Given the description of an element on the screen output the (x, y) to click on. 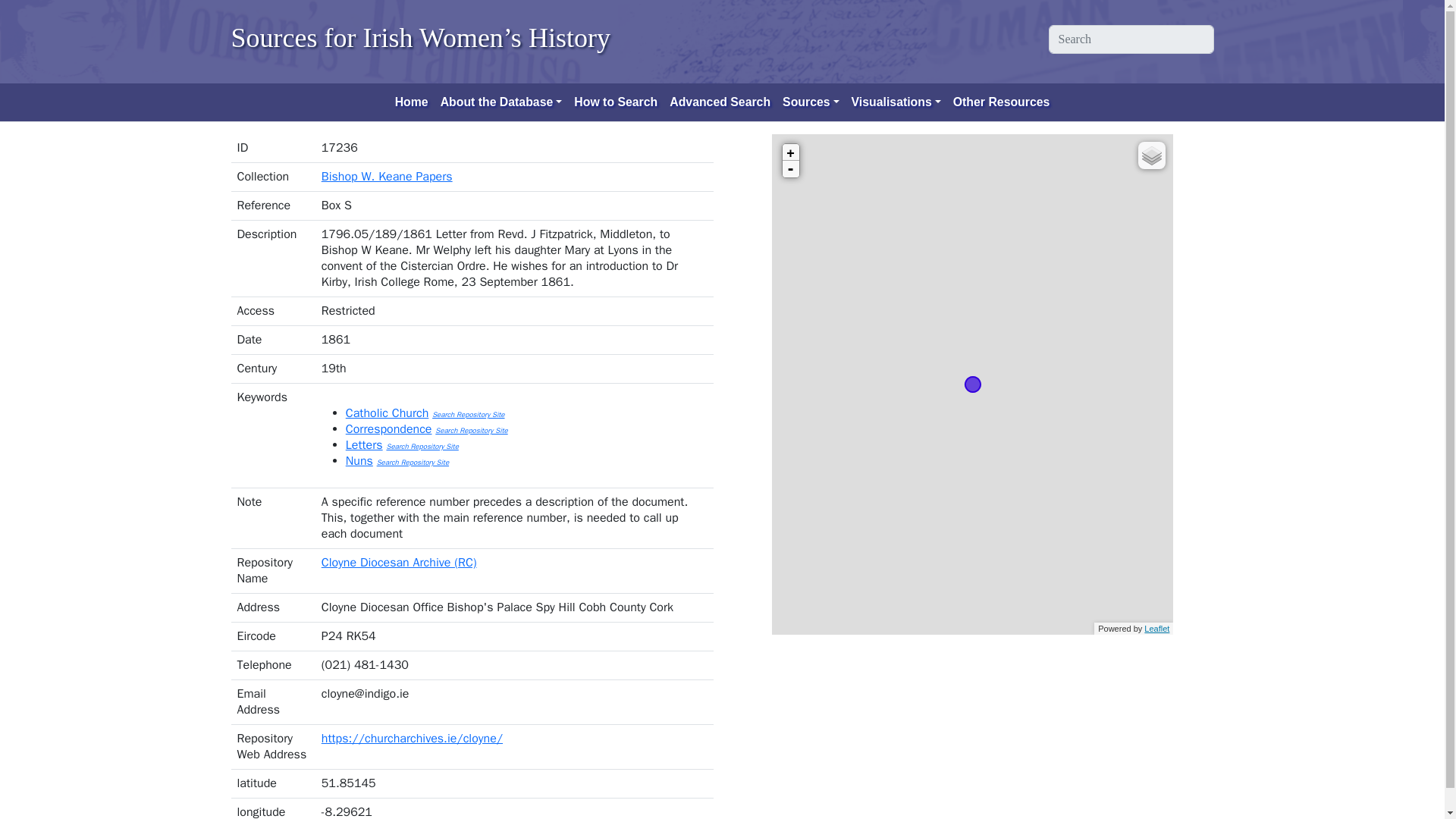
Search Repository Site (470, 429)
Zoom out (791, 168)
Other Resources (1002, 101)
Search Repository Site (421, 446)
Letters (364, 444)
Layers (1152, 154)
Sources (810, 101)
Advanced Search (719, 101)
Leaflet (1156, 627)
About the Database (501, 101)
